Given the description of an element on the screen output the (x, y) to click on. 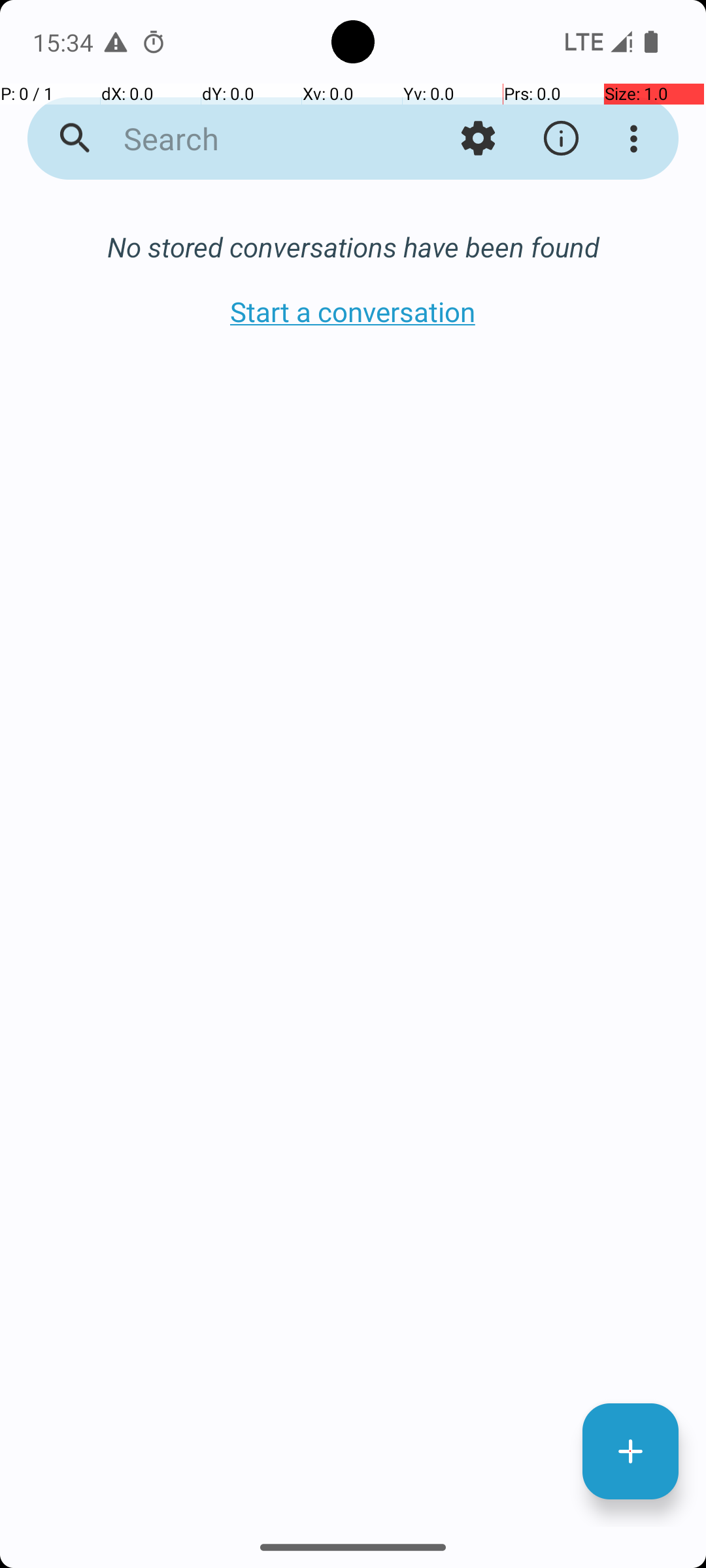
No stored conversations have been found Element type: android.widget.TextView (353, 246)
Start a conversation Element type: android.widget.TextView (352, 311)
